Given the description of an element on the screen output the (x, y) to click on. 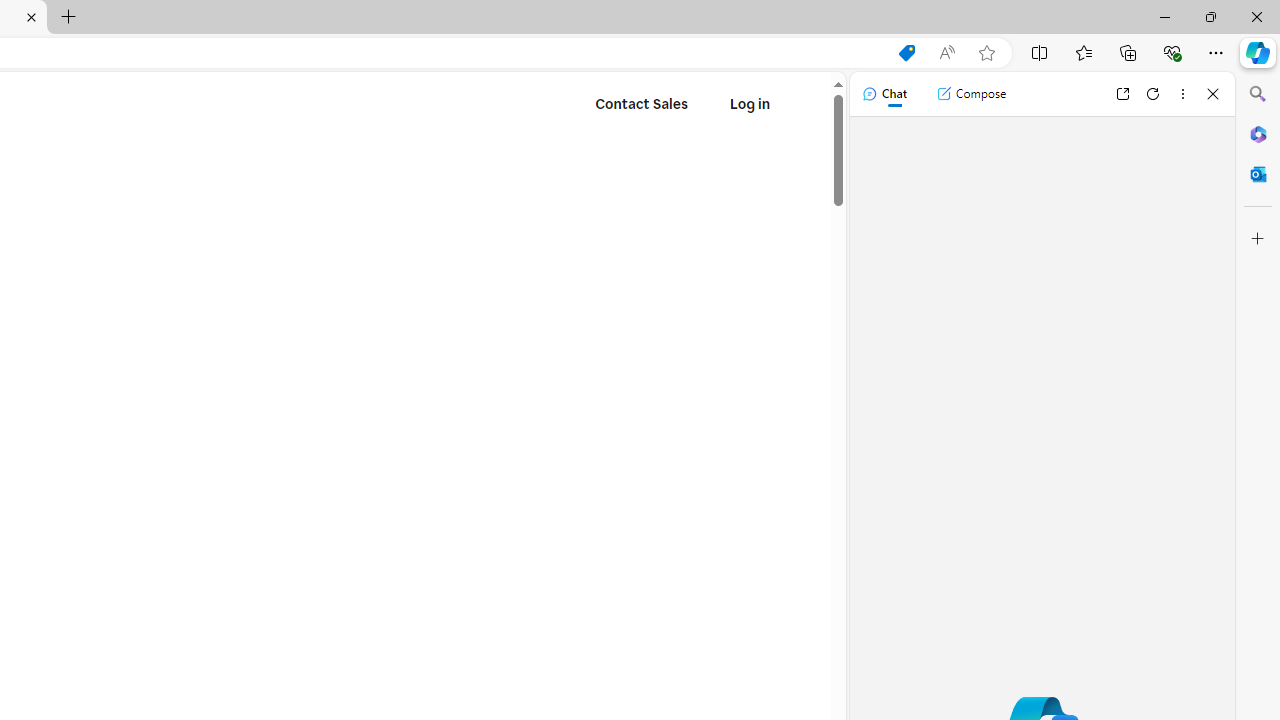
Contact Sales (641, 103)
